Given the description of an element on the screen output the (x, y) to click on. 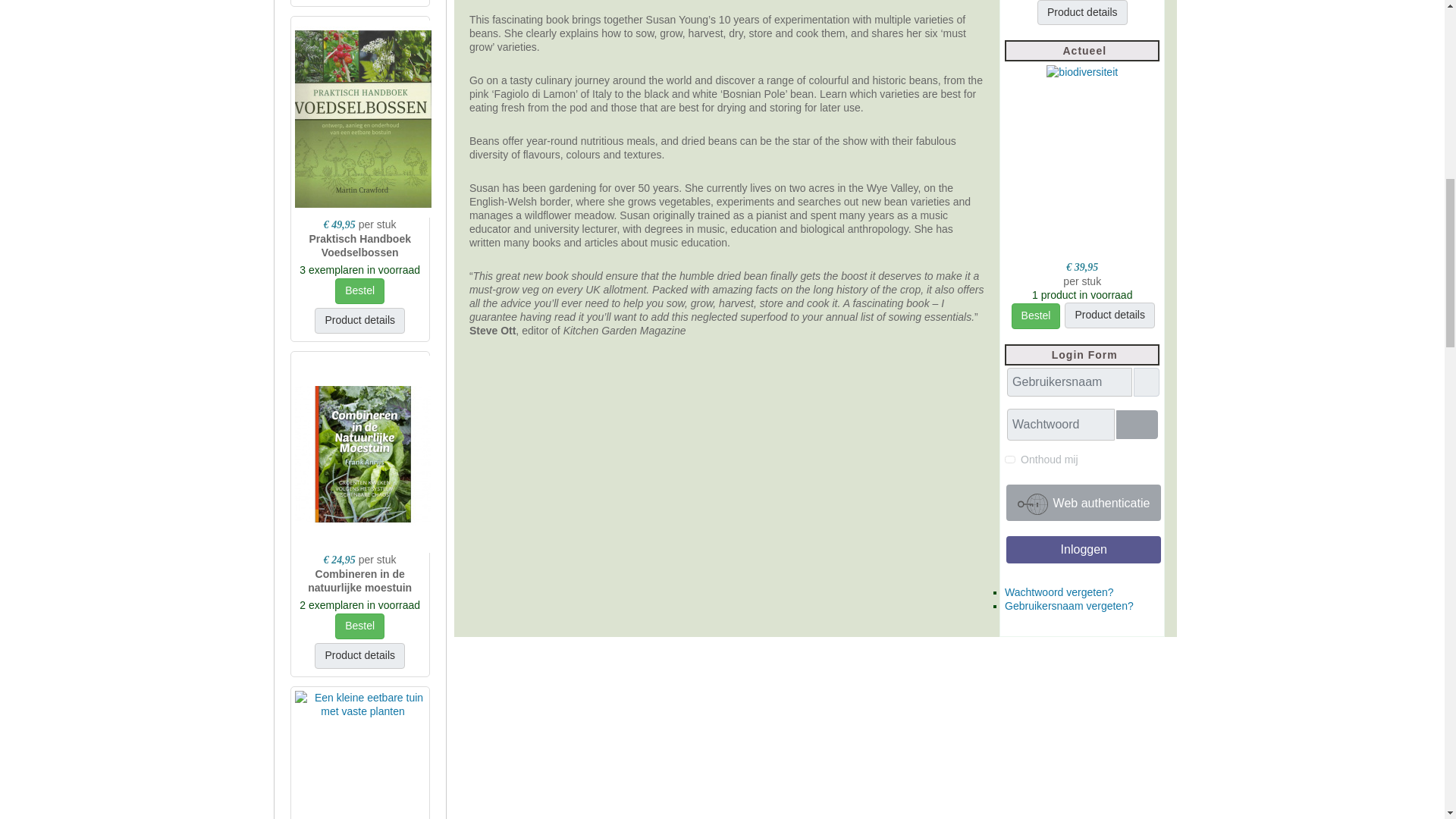
Web authenticatie (1083, 502)
Een kleine eetbare tuin met vaste planten (362, 704)
yes (1009, 459)
Bescherming van biodiversiteit, een weerbarstige uitdaging (1082, 71)
Gebruikersnaam (1146, 381)
